Given the description of an element on the screen output the (x, y) to click on. 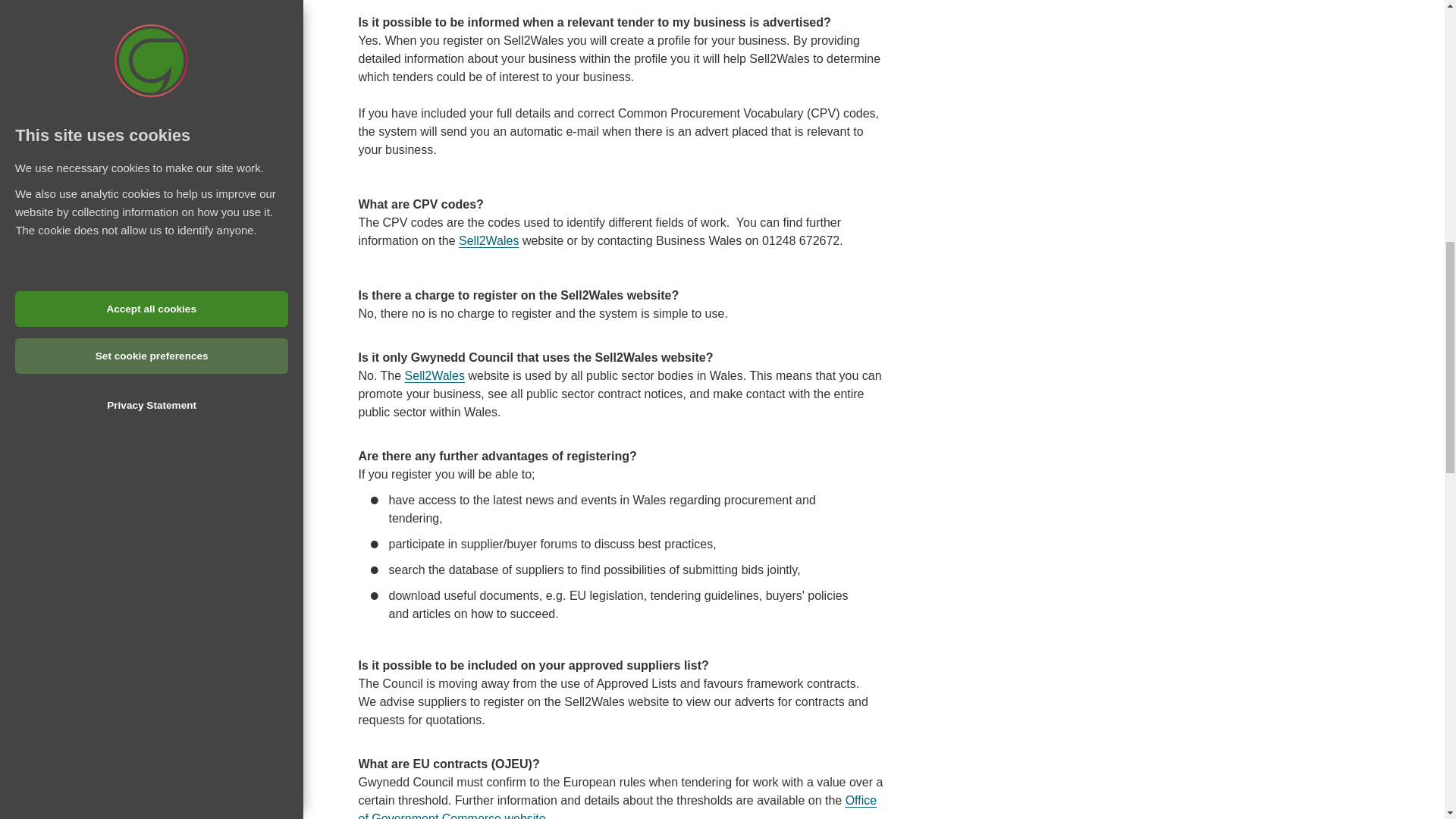
Office of Government Commerce website (617, 806)
Sell2Wales (434, 375)
Sell2Wales (488, 240)
Sell2Wales (434, 375)
Procurement thresholds (617, 806)
Sell2Wales (488, 240)
